Given the description of an element on the screen output the (x, y) to click on. 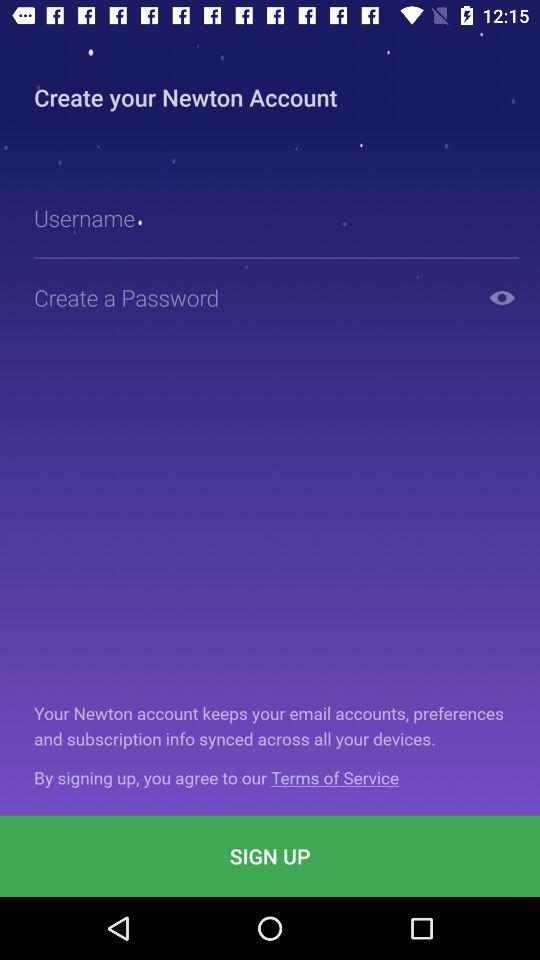
enter username (281, 217)
